Given the description of an element on the screen output the (x, y) to click on. 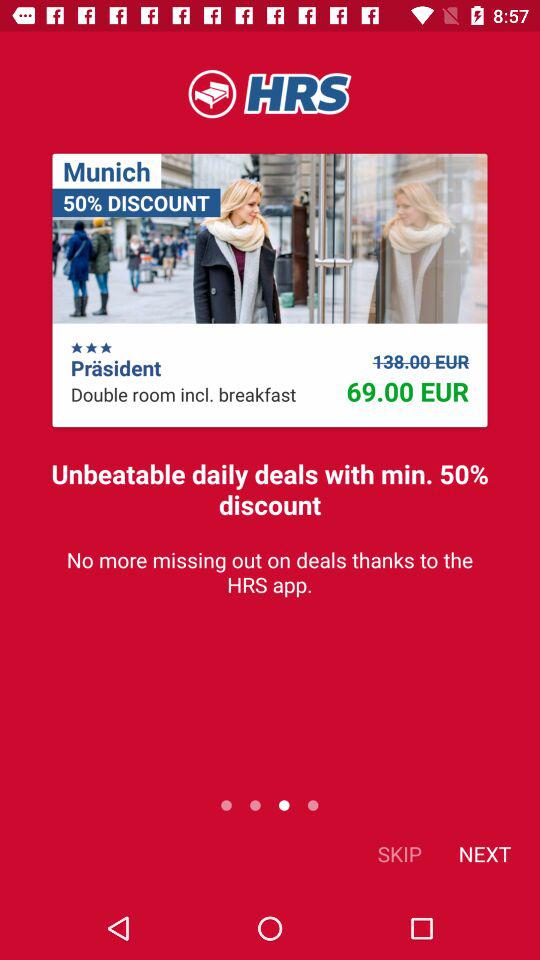
turn off icon to the left of the next icon (399, 853)
